Given the description of an element on the screen output the (x, y) to click on. 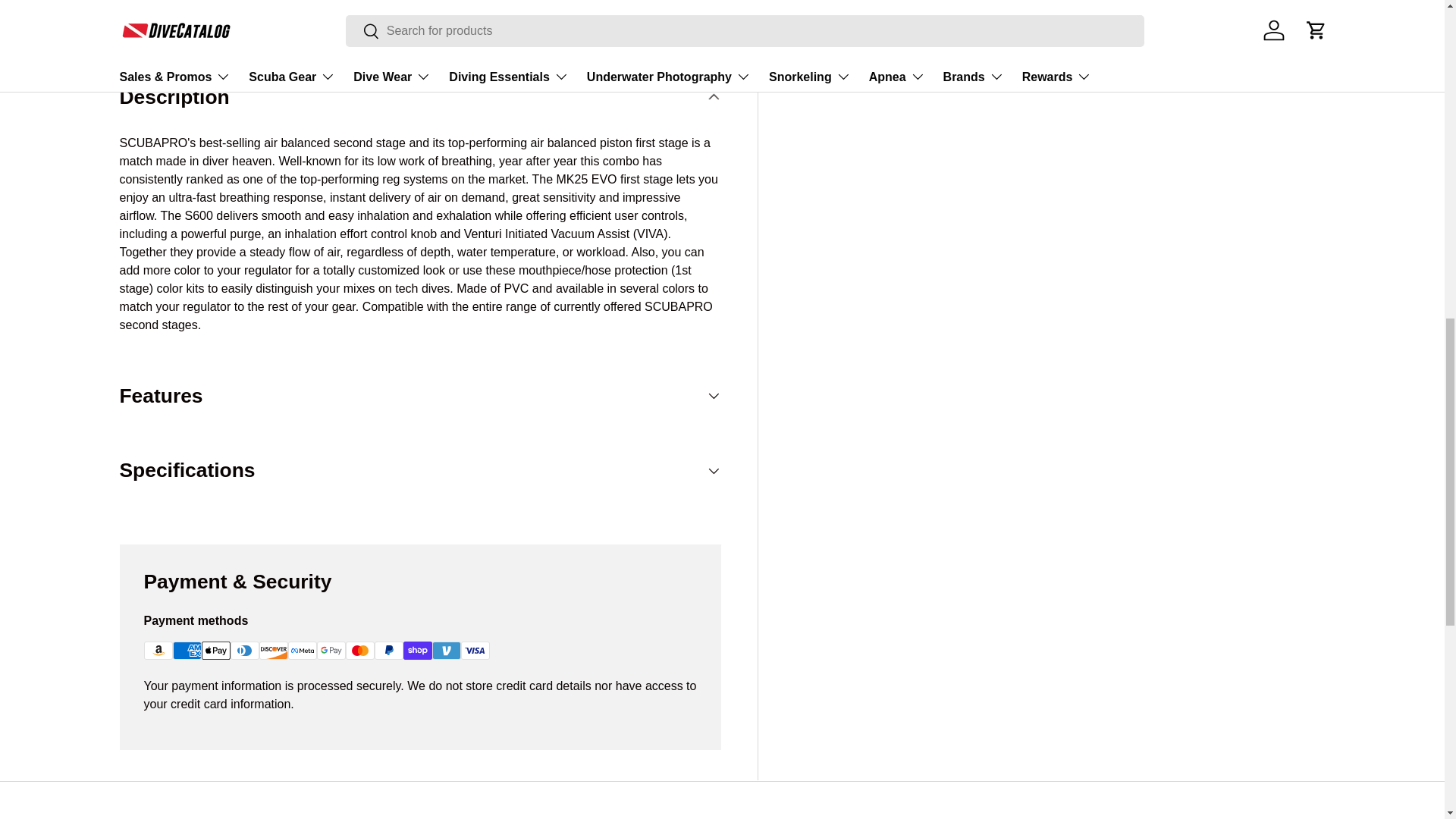
Share on Facebook (876, 1)
Pin on Pinterest (906, 1)
Tweet on X (846, 1)
